Given the description of an element on the screen output the (x, y) to click on. 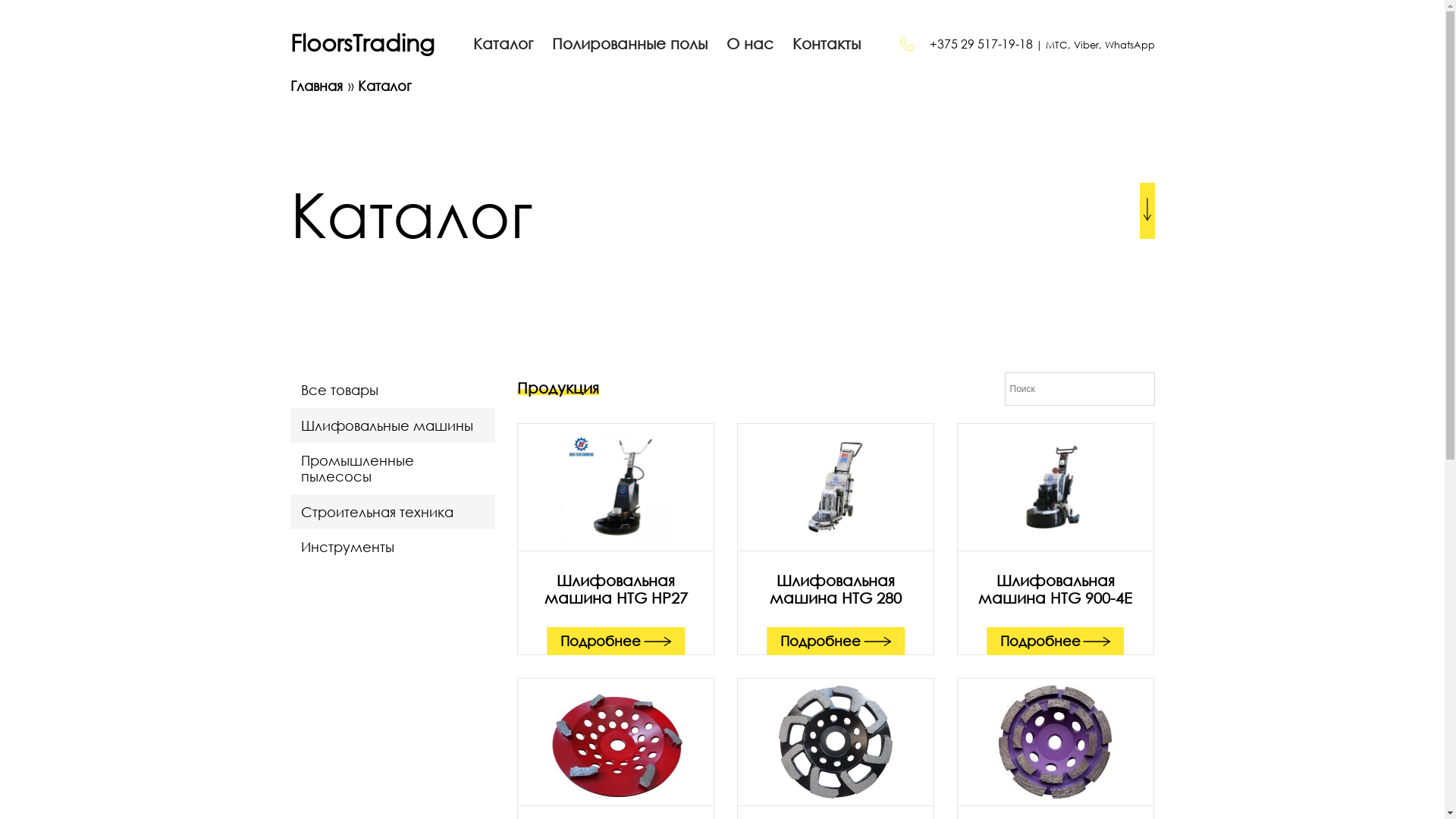
FloorsTrading Element type: text (361, 43)
